Given the description of an element on the screen output the (x, y) to click on. 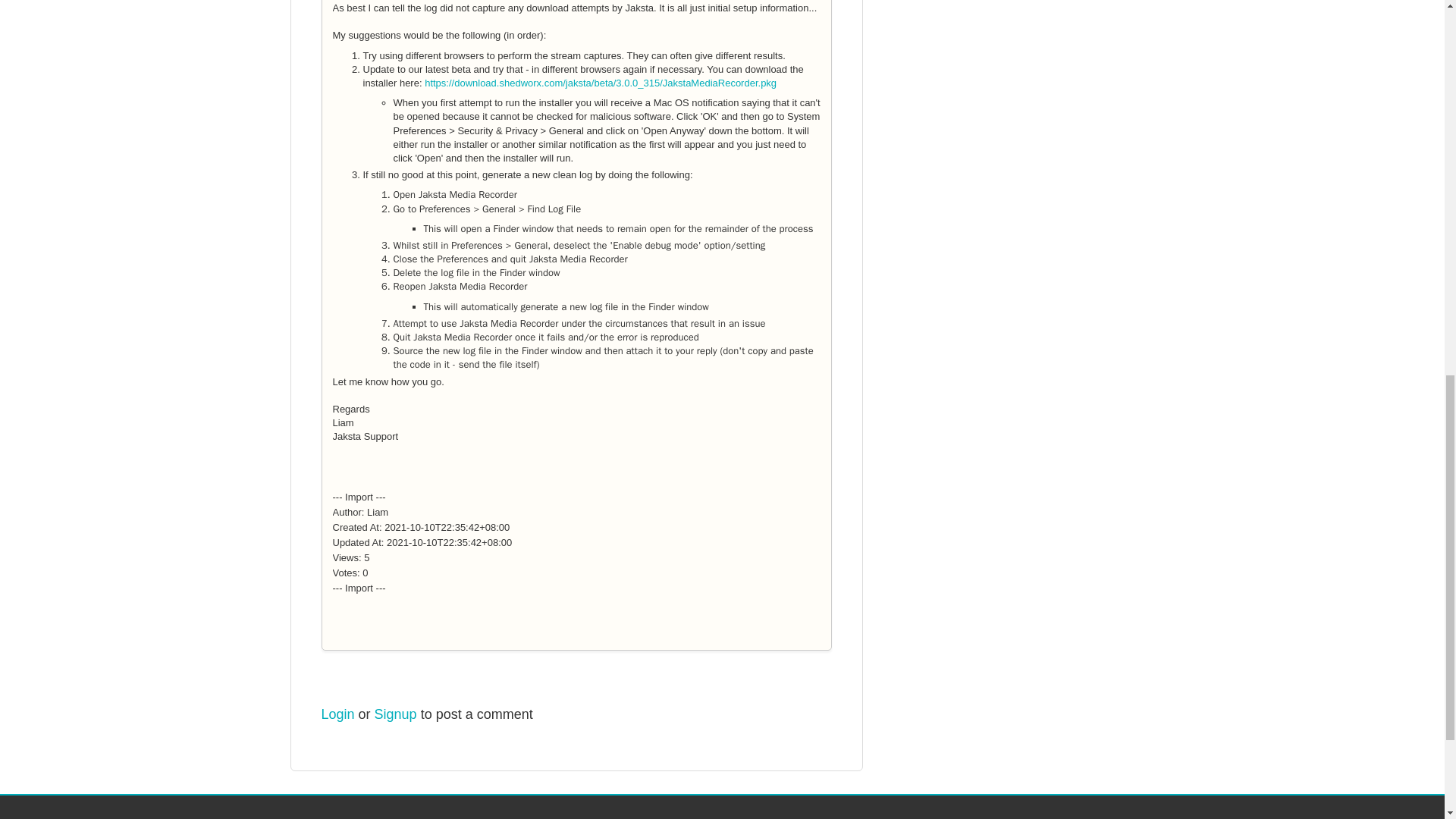
Login (338, 713)
Signup (395, 713)
